Given the description of an element on the screen output the (x, y) to click on. 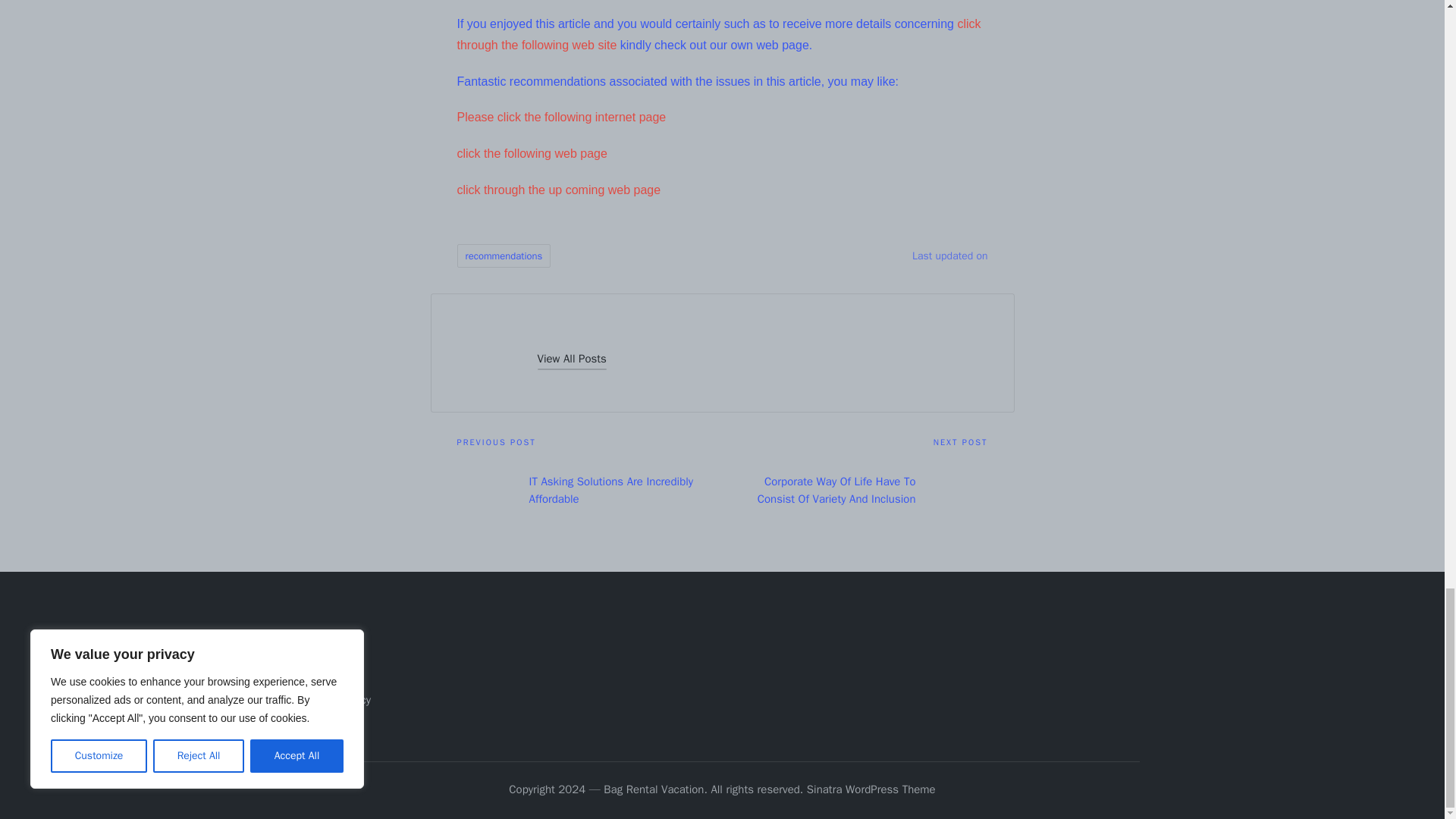
Sinatra WordPress Theme (871, 790)
Privacy Policy (337, 699)
IT Asking Solutions Are Incredibly Affordable (589, 489)
recommendations (503, 255)
click the following web page (532, 153)
Contact (323, 674)
click through the up coming web page (559, 189)
About (318, 650)
View All Posts (571, 358)
